Given the description of an element on the screen output the (x, y) to click on. 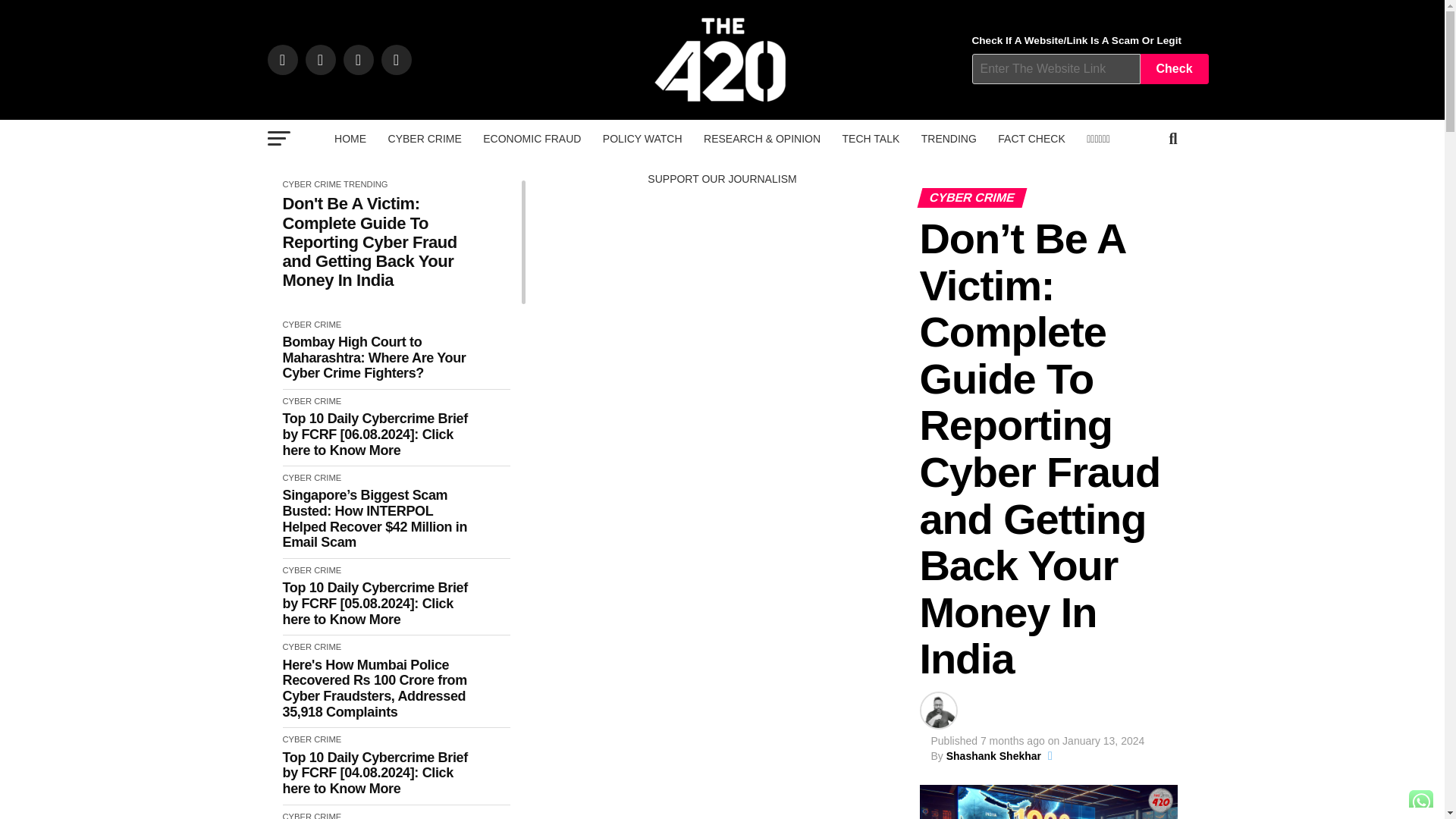
HOME (349, 138)
POLICY WATCH (642, 138)
CYBER CRIME (424, 138)
Posts by Shashank Shekhar (993, 756)
Check (1174, 69)
ECONOMIC FRAUD (531, 138)
